Given the description of an element on the screen output the (x, y) to click on. 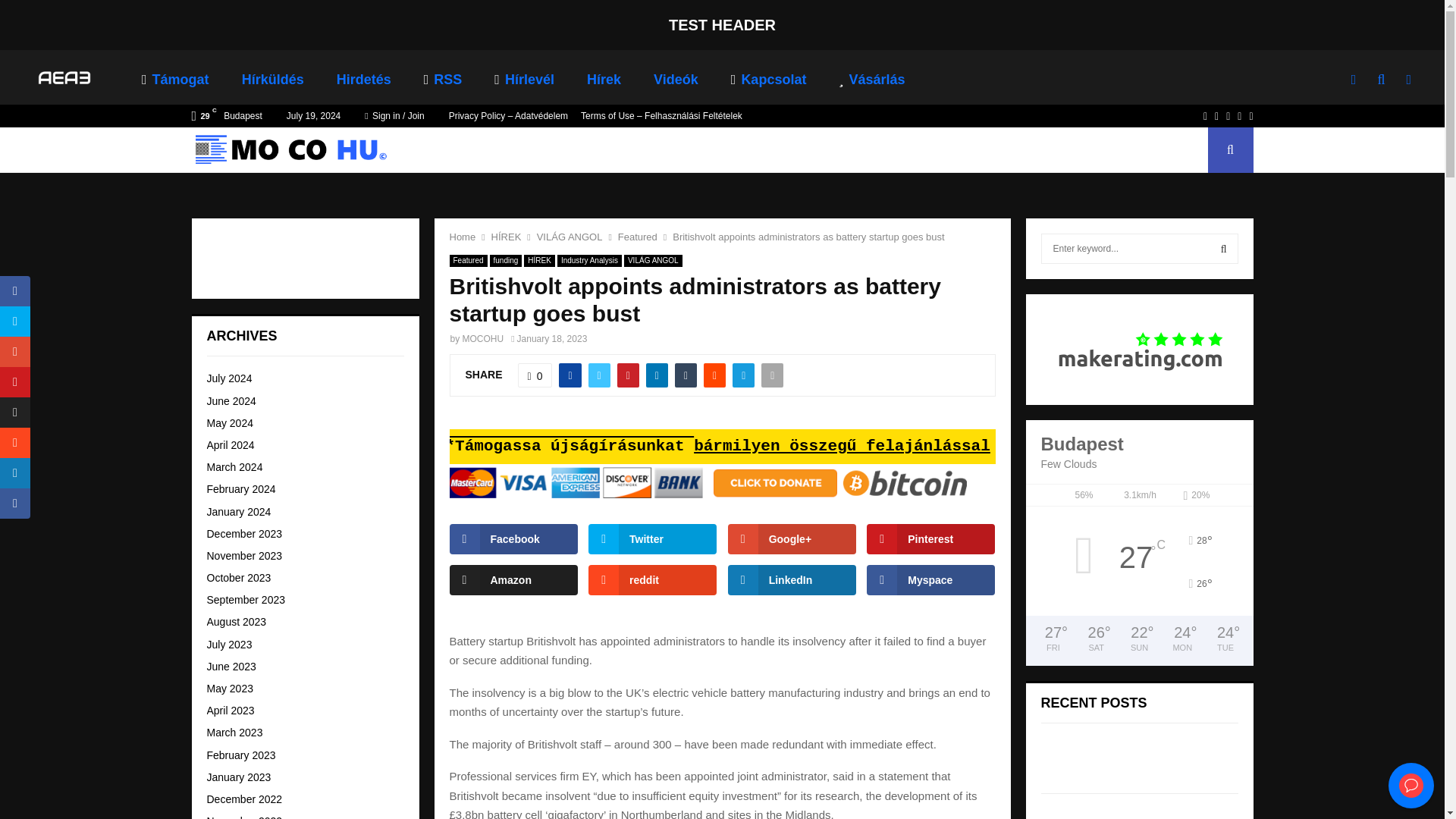
Login to your account (722, 293)
Kapcsolat (780, 79)
RSS (454, 79)
Like (535, 375)
